Given the description of an element on the screen output the (x, y) to click on. 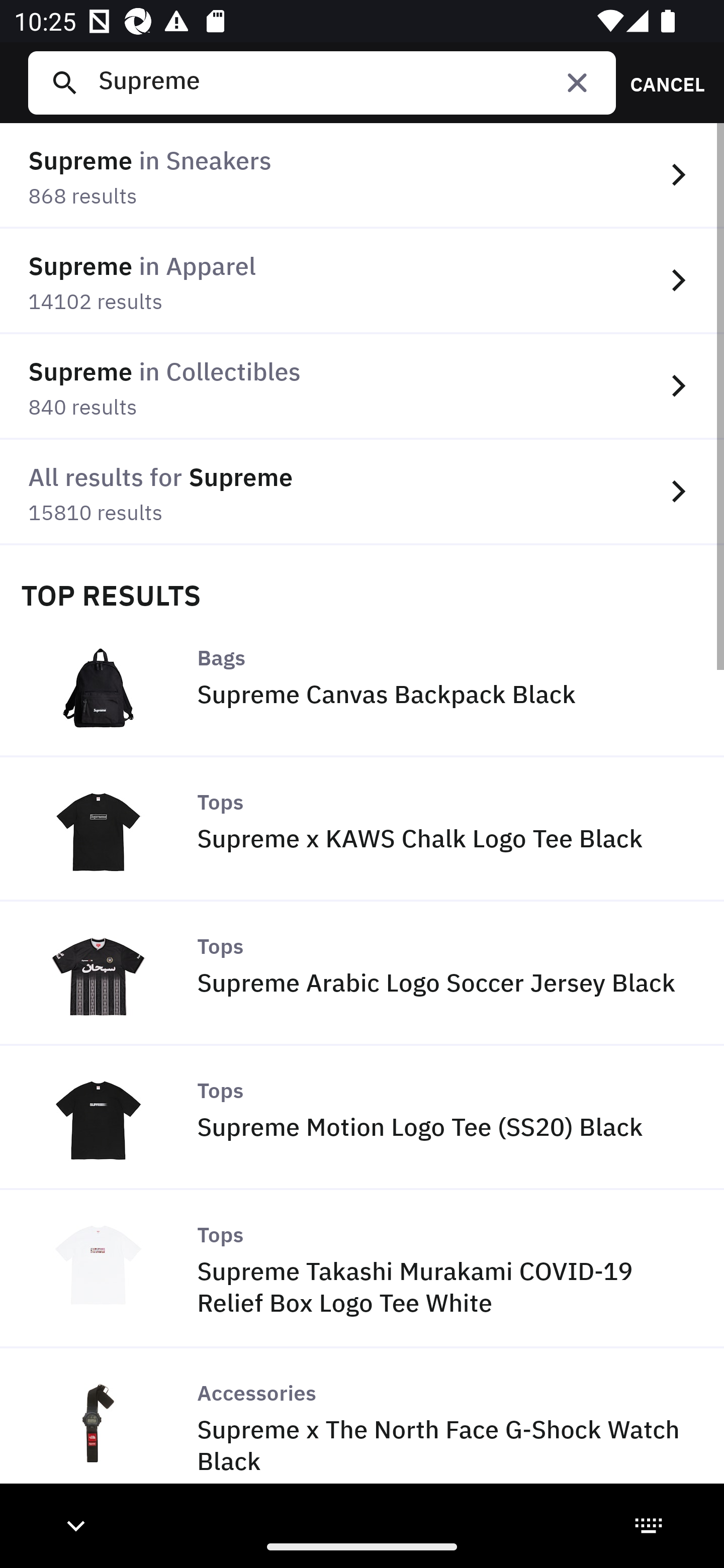
CANCEL (660, 82)
Supreme (349, 82)
 (577, 82)
Supreme  in Sneakers 868 results  (362, 175)
Supreme  in Apparel 14102 results  (362, 280)
Supreme  in Collectibles 840 results  (362, 386)
All results for  Supreme 15810 results  (362, 492)
Bags Supreme Canvas Backpack Black (362, 685)
Tops Supreme x KAWS Chalk Logo Tee Black (362, 829)
Tops Supreme Arabic Logo Soccer Jersey Black (362, 973)
Tops Supreme Motion Logo Tee (SS20) Black (362, 1117)
